Given the description of an element on the screen output the (x, y) to click on. 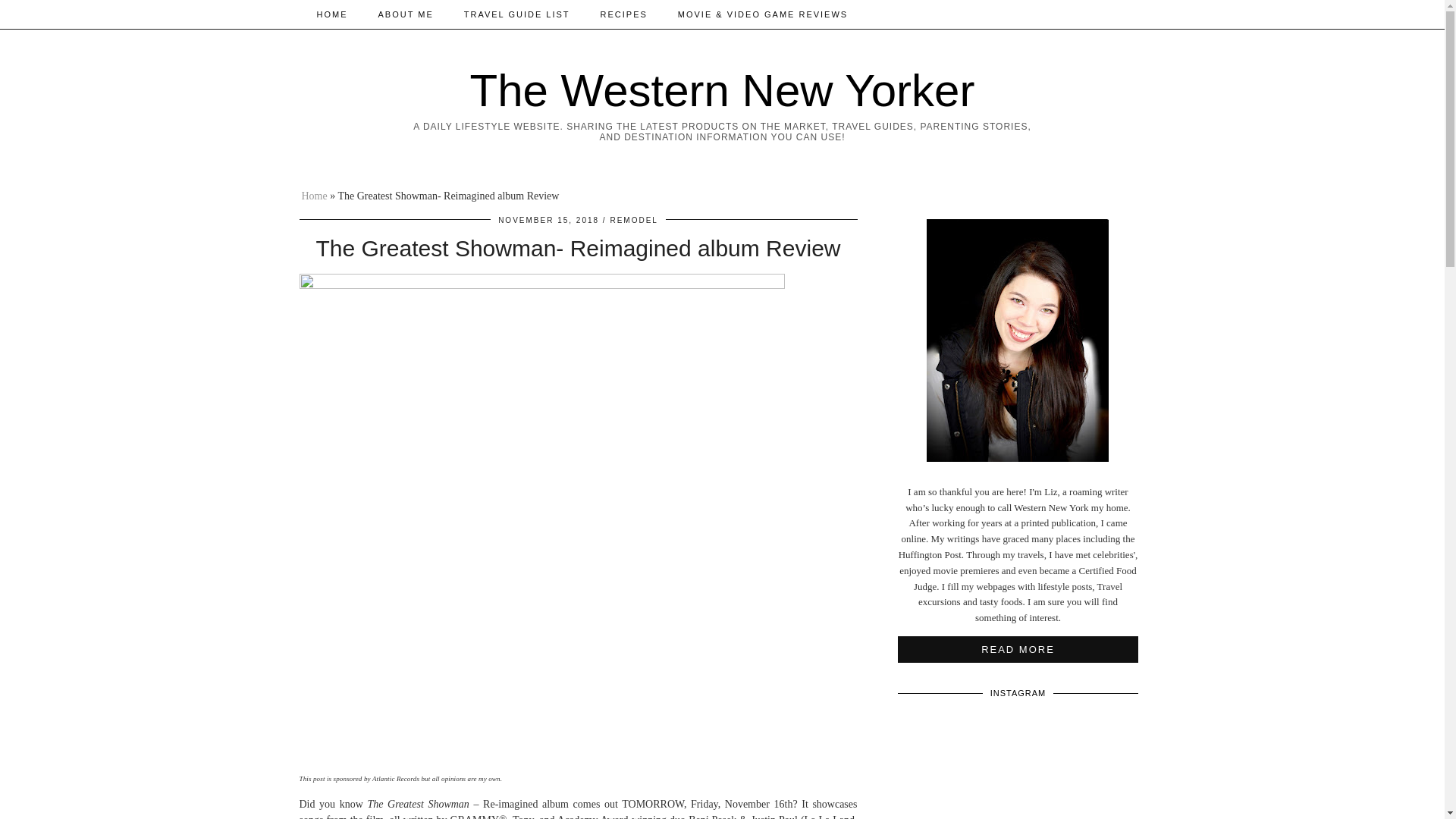
TRAVEL GUIDE LIST (516, 14)
READ MORE (1018, 649)
The Western New Yorker (722, 90)
The Western New Yorker (722, 90)
RECIPES (623, 14)
HOME (331, 14)
Home (314, 195)
ABOUT ME (405, 14)
REMODEL (634, 220)
